Given the description of an element on the screen output the (x, y) to click on. 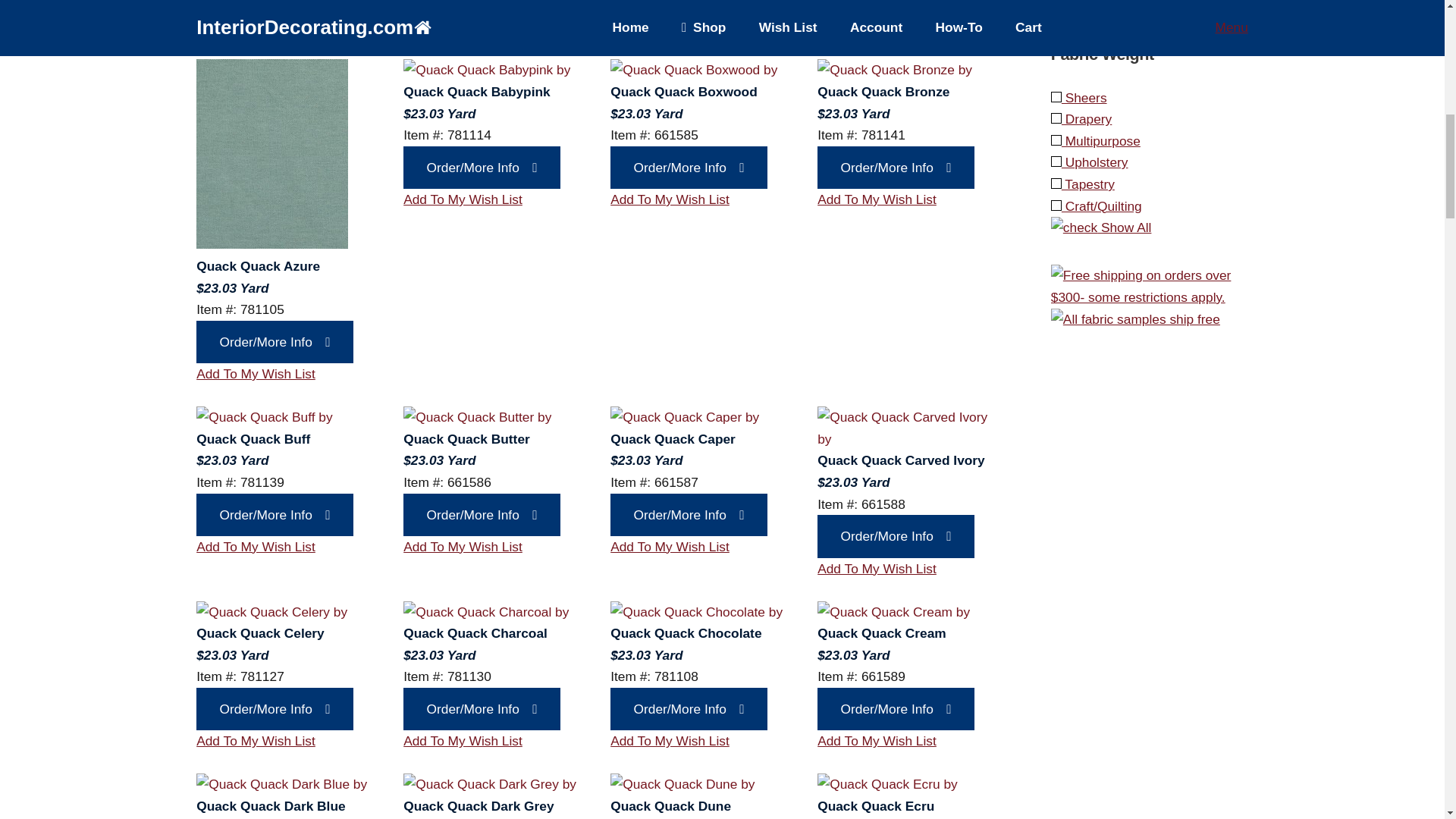
Add To My Wish List (462, 26)
Quack Quack Dune (682, 784)
Quack Quack Babypink (486, 69)
Quack Quack Bronze (894, 69)
Add To My Wish List (255, 26)
Quack Quack Chocolate (696, 612)
Quack Quack Butter (477, 417)
Quack Quack Charcoal (486, 612)
Quack Quack Cream (892, 612)
Quack Quack Dark Grey (489, 784)
